Given the description of an element on the screen output the (x, y) to click on. 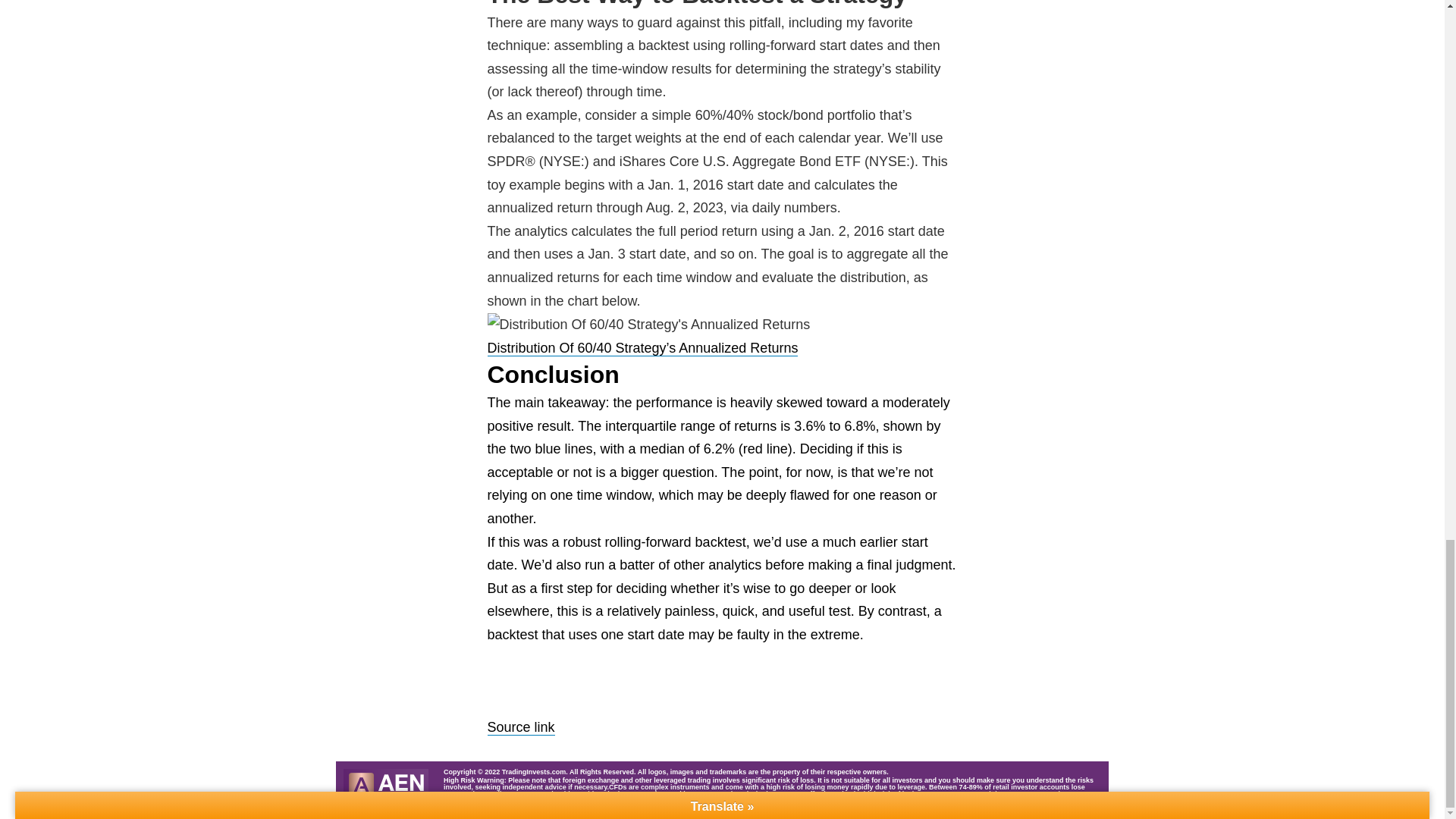
Source link (520, 727)
